Given the description of an element on the screen output the (x, y) to click on. 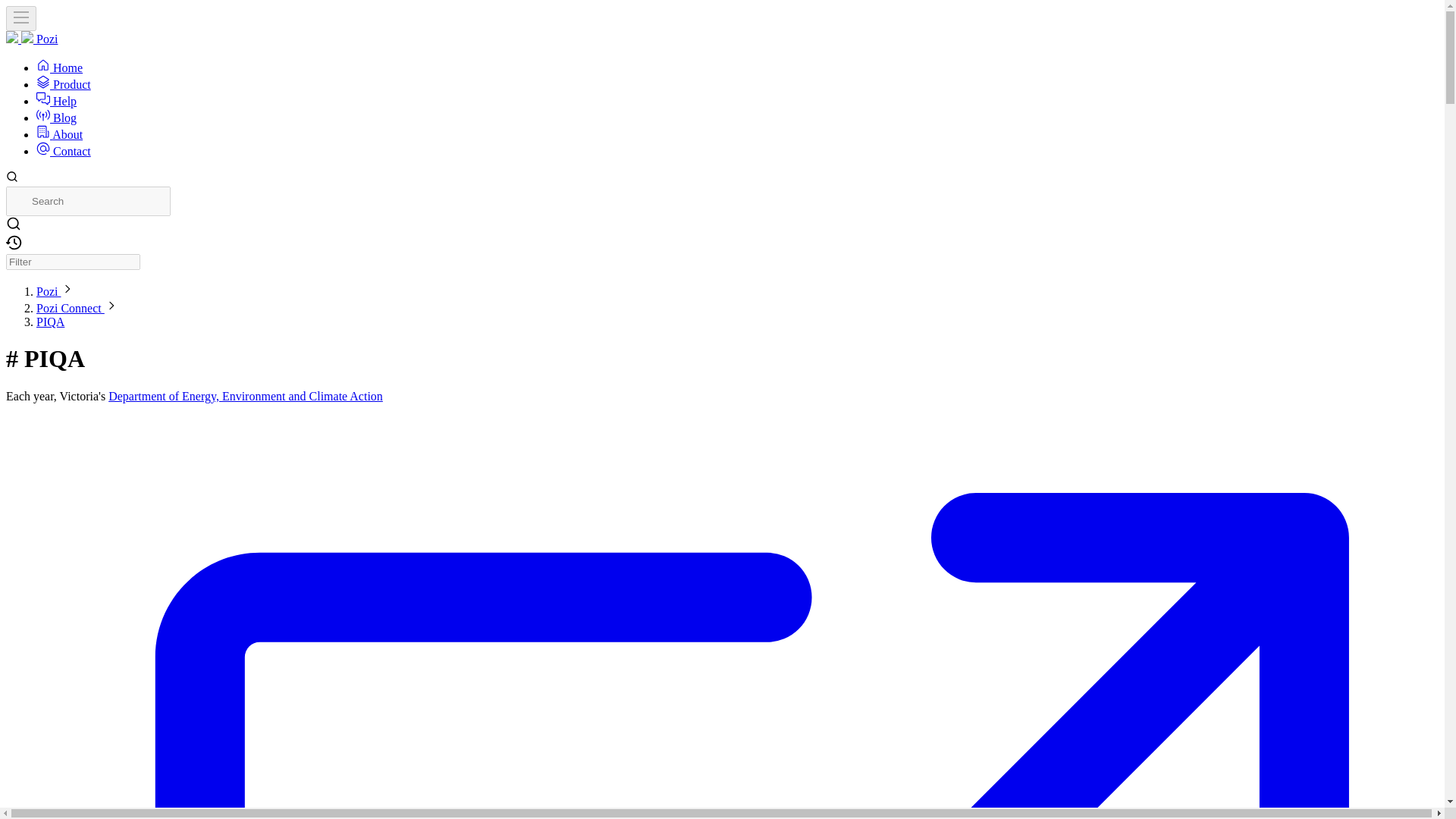
Blog (56, 117)
Home (59, 67)
Help (56, 101)
Pozi Connect (70, 308)
Pozi (31, 38)
Contact (63, 151)
Product (63, 83)
Pozi (48, 291)
PIQA (50, 321)
About (59, 133)
